Given the description of an element on the screen output the (x, y) to click on. 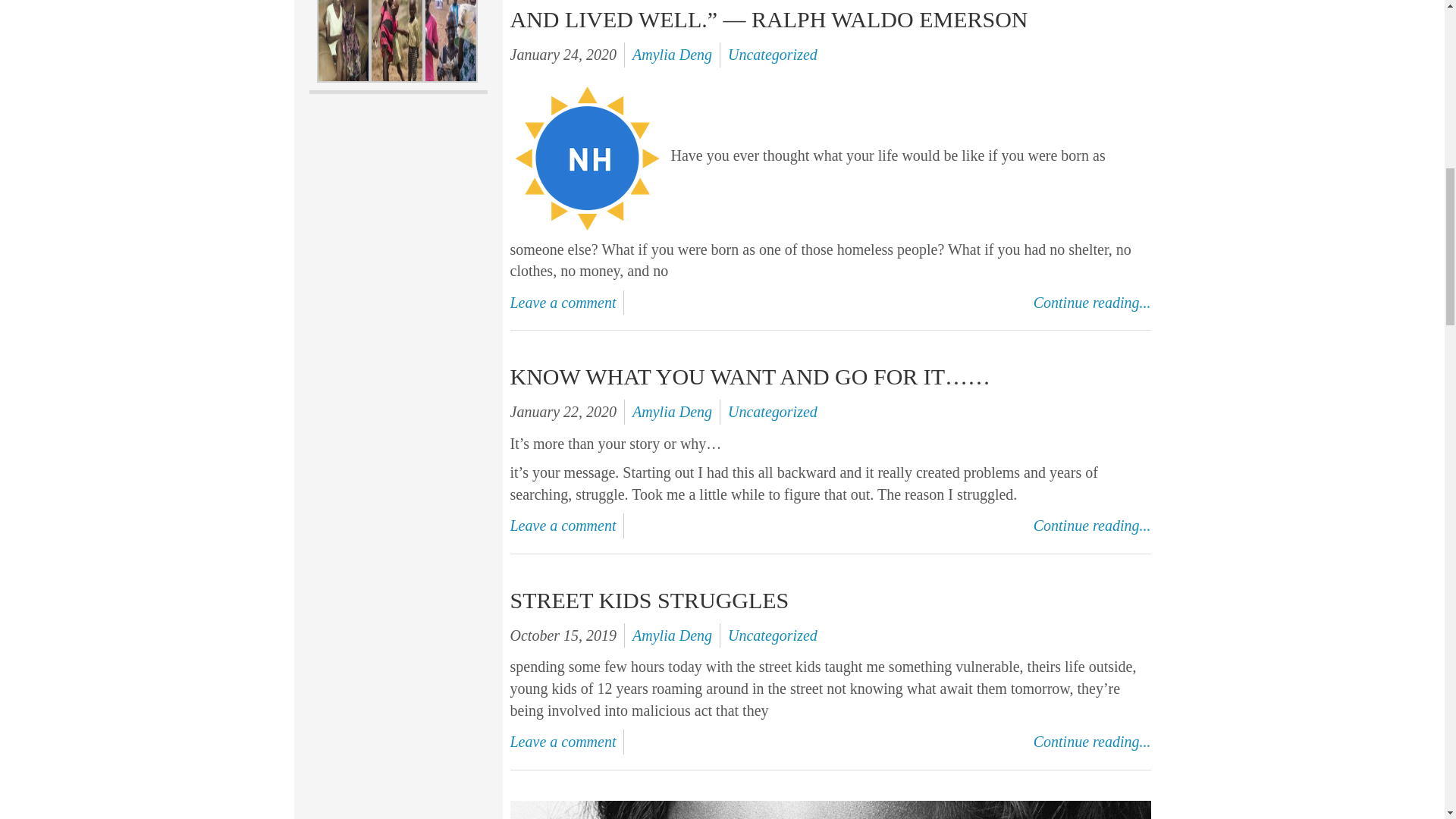
View all posts by Amylia Deng (671, 411)
View all posts by Amylia Deng (671, 54)
STREET KIDS STRUGGLES (649, 600)
View all posts by Amylia Deng (671, 635)
Continue reading... (1092, 302)
Continue reading... (1092, 525)
